Given the description of an element on the screen output the (x, y) to click on. 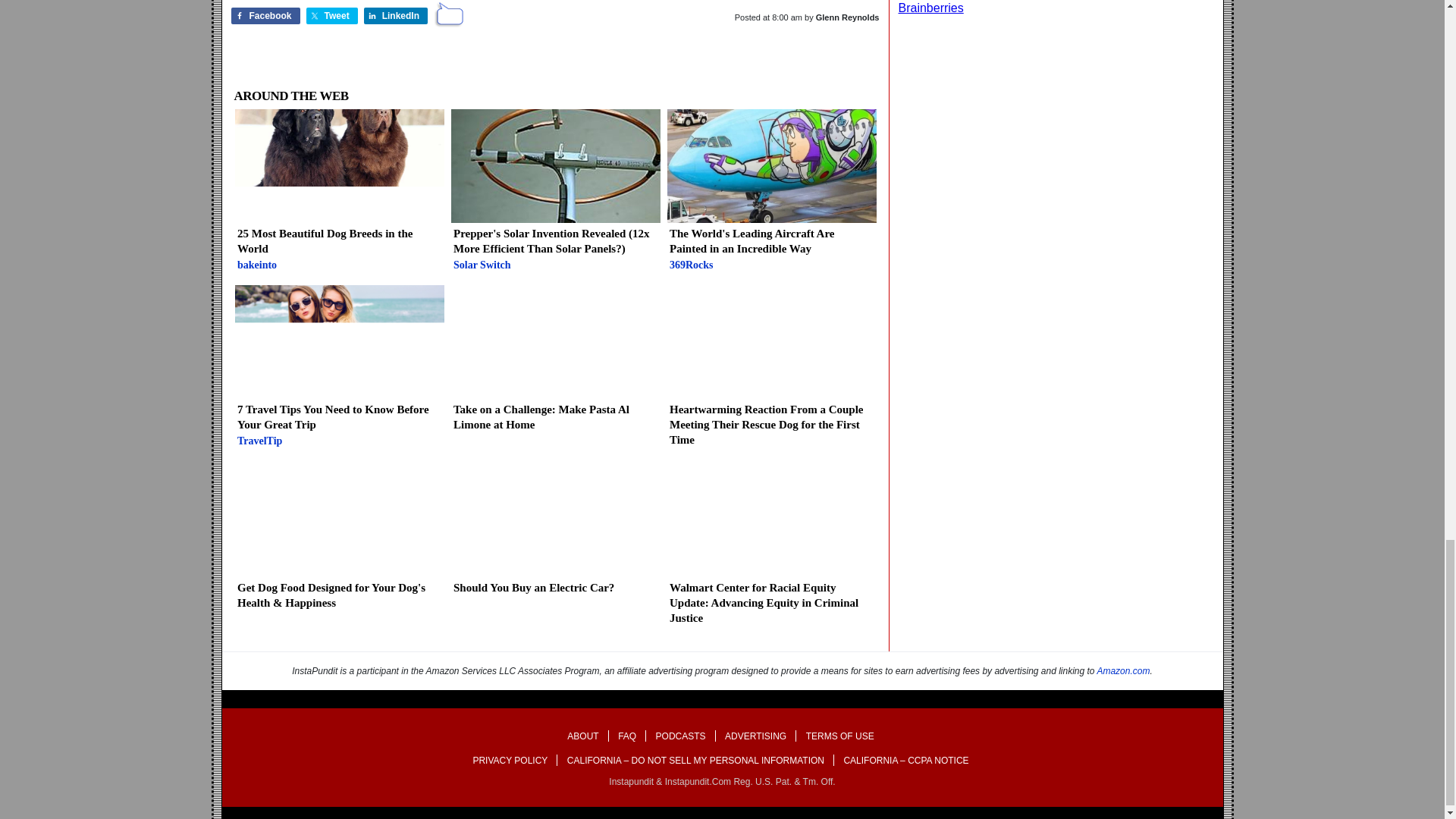
Facebook (264, 15)
7 Travel Tips You Need to Know Before Your Great Trip (338, 370)
Should You Buy an Electric Car? (554, 534)
Should You Buy an Electric Car? (554, 534)
Tweet (338, 194)
